Given the description of an element on the screen output the (x, y) to click on. 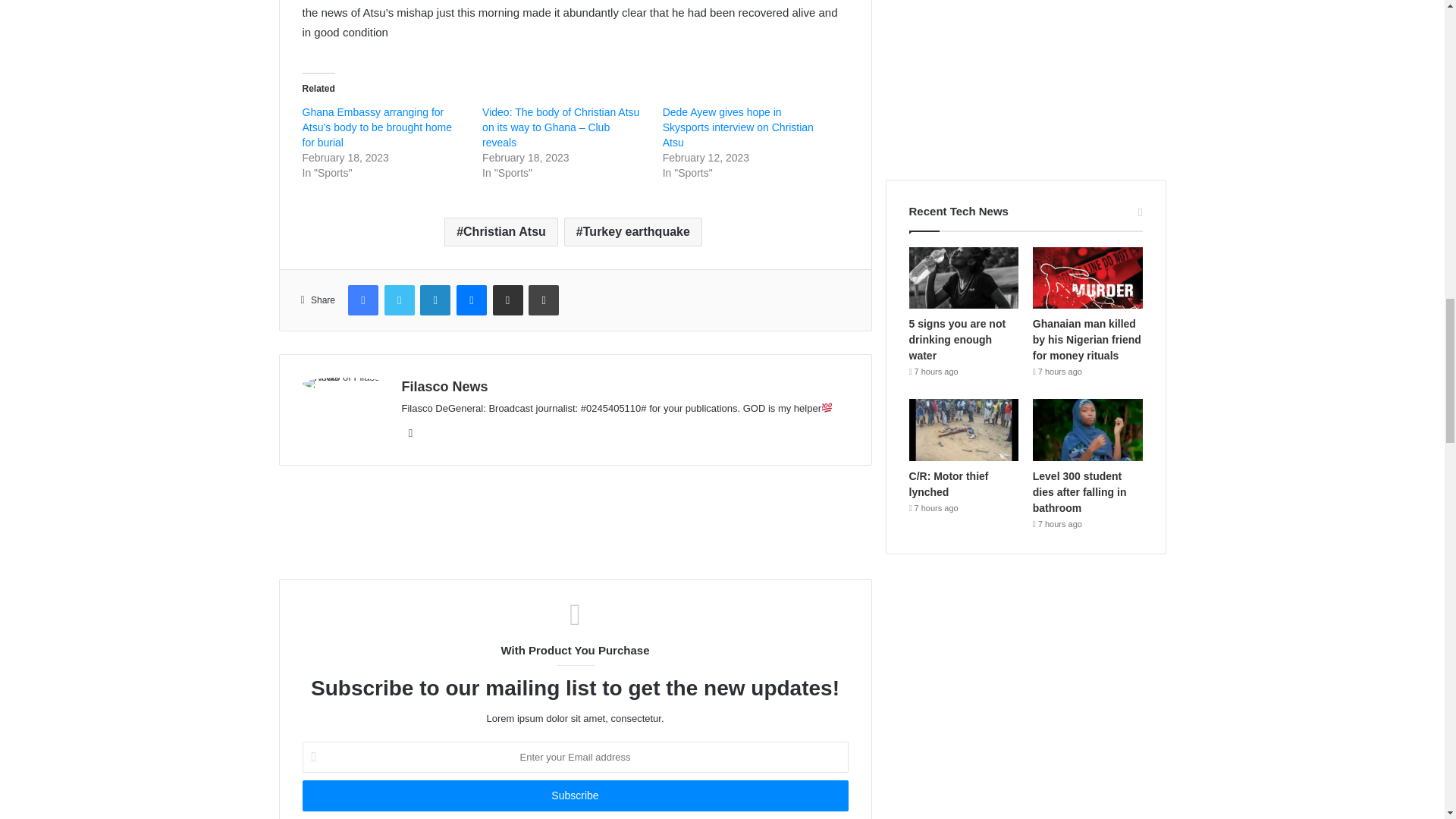
Subscribe (574, 795)
